Given the description of an element on the screen output the (x, y) to click on. 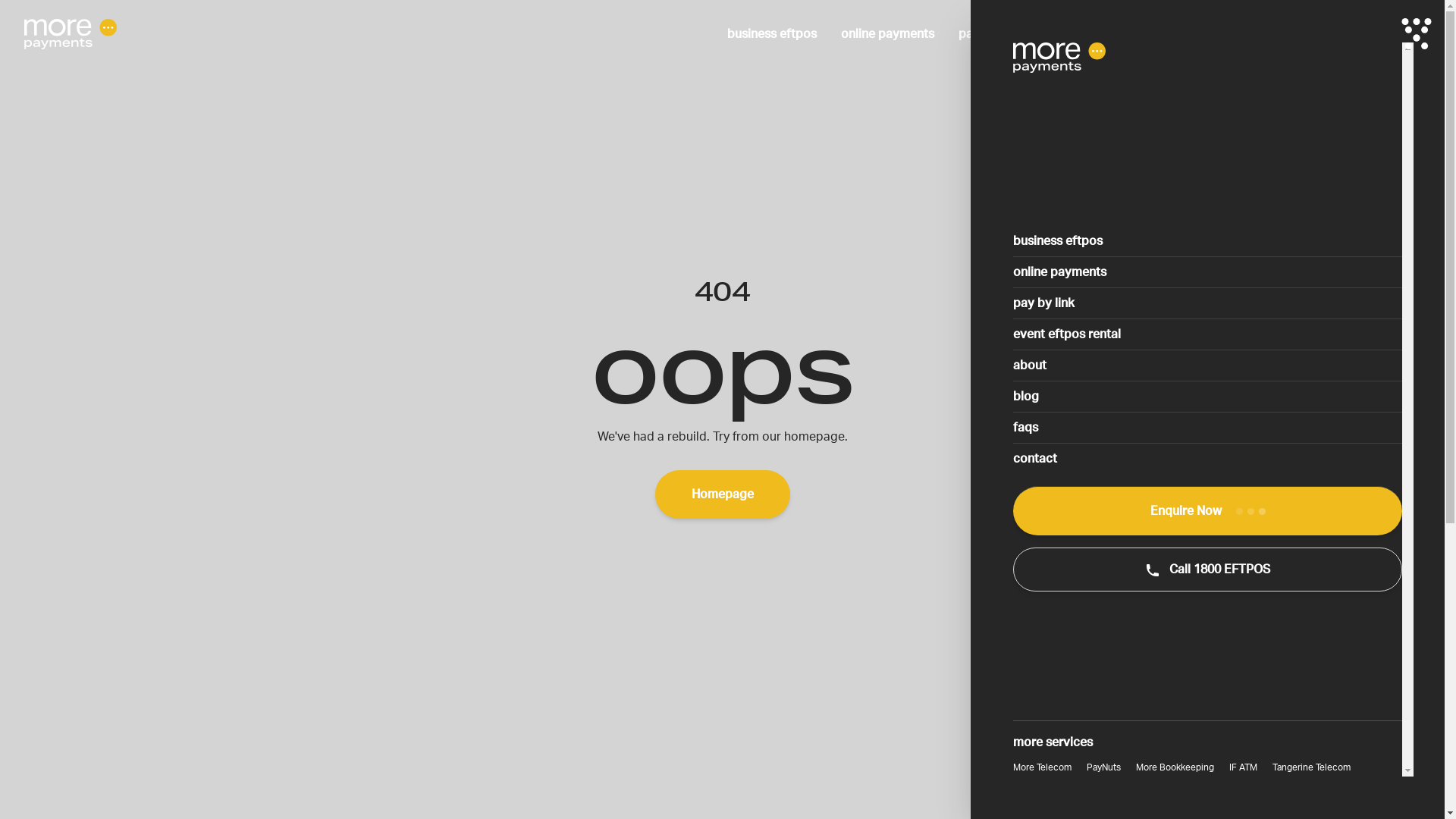
More Telecom Element type: text (1042, 767)
Call 1800 EFTPOS Element type: text (1207, 569)
Tangerine Telecom Element type: text (1311, 767)
blog Element type: text (1207, 395)
business eftpos Element type: text (1207, 240)
contact Element type: text (1355, 34)
faqs Element type: text (1295, 34)
business eftpos Element type: text (771, 34)
about Element type: text (1207, 364)
blog Element type: text (1246, 34)
Homepage Element type: text (722, 494)
online payments Element type: text (887, 34)
PayNuts Element type: text (1103, 767)
pay by link Element type: text (988, 34)
contact Element type: text (1207, 457)
IF ATM Element type: text (1243, 767)
event eftpos rental Element type: text (1207, 333)
faqs Element type: text (1207, 426)
pay by link Element type: text (1207, 302)
Enquire Now Element type: text (1207, 510)
event eftpos rental Element type: text (1097, 34)
about Element type: text (1192, 34)
online payments Element type: text (1207, 271)
More Bookkeeping Element type: text (1174, 767)
